Given the description of an element on the screen output the (x, y) to click on. 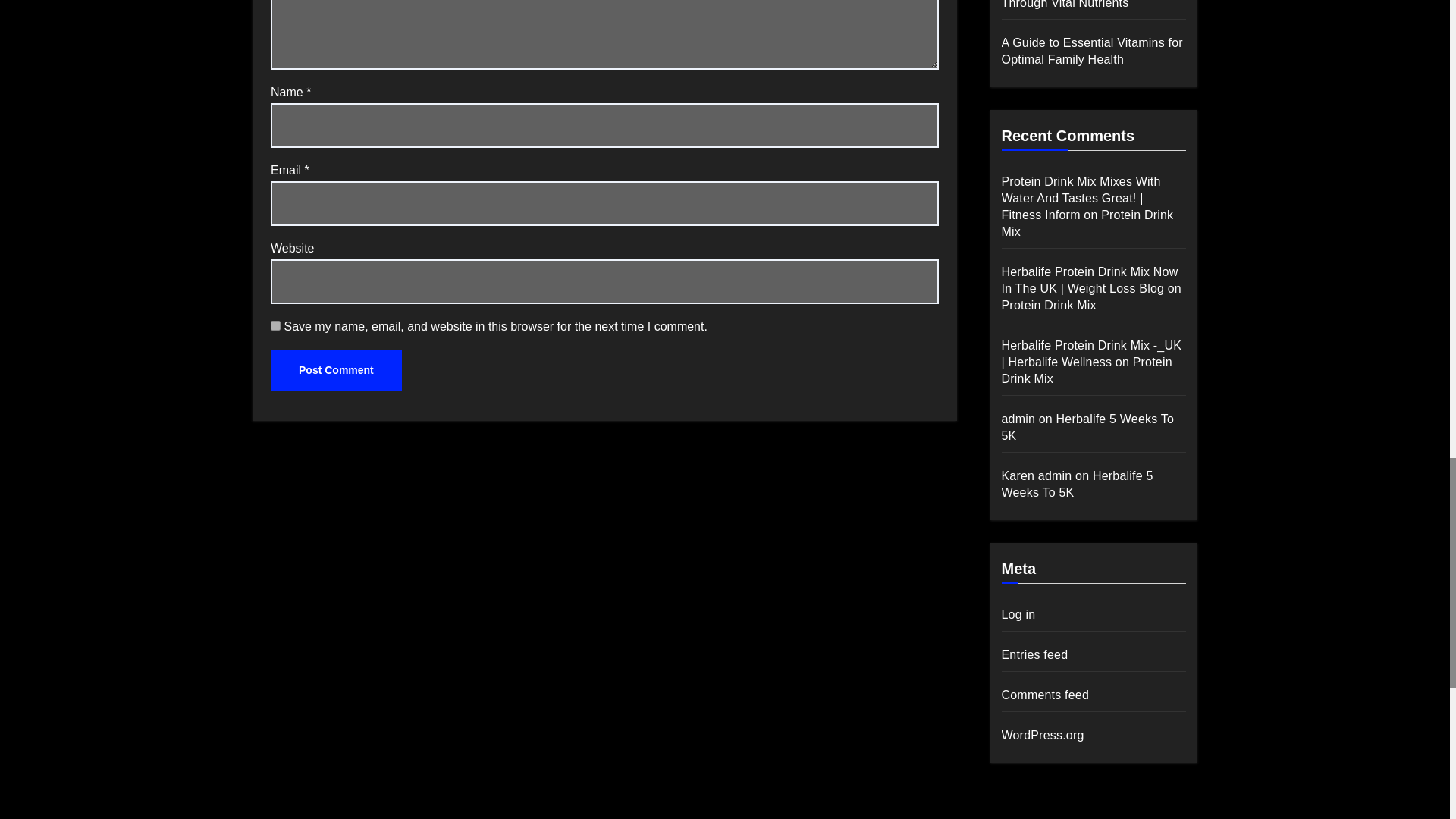
Post Comment (335, 369)
yes (275, 325)
